Given the description of an element on the screen output the (x, y) to click on. 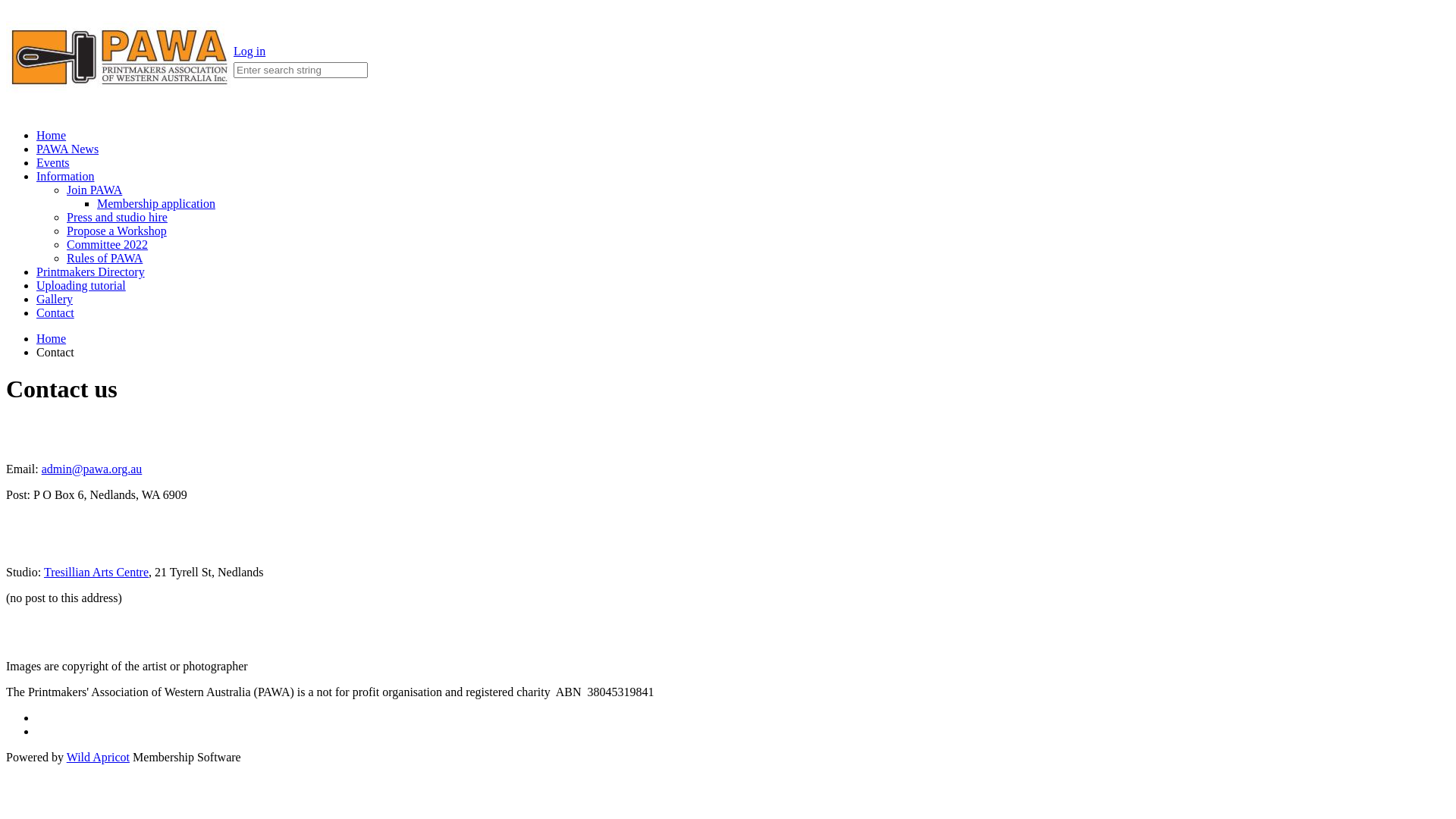
Home Element type: text (50, 134)
admin@pawa.org.au Element type: text (91, 468)
Press and studio hire Element type: text (116, 216)
Tresillian Arts Centre Element type: text (95, 571)
Contact Element type: text (55, 312)
Propose a Workshop Element type: text (116, 230)
Printmakers Directory Element type: text (90, 271)
Log in Element type: text (249, 50)
Events Element type: text (52, 162)
Information Element type: text (65, 175)
Committee 2022 Element type: text (106, 244)
Uploading tutorial Element type: text (80, 285)
Join PAWA Element type: text (94, 189)
Home Element type: text (50, 338)
Gallery Element type: text (54, 298)
PAWA News Element type: text (67, 148)
Wild Apricot Element type: text (97, 756)
Membership application Element type: text (156, 203)
Rules of PAWA Element type: text (104, 257)
